Given the description of an element on the screen output the (x, y) to click on. 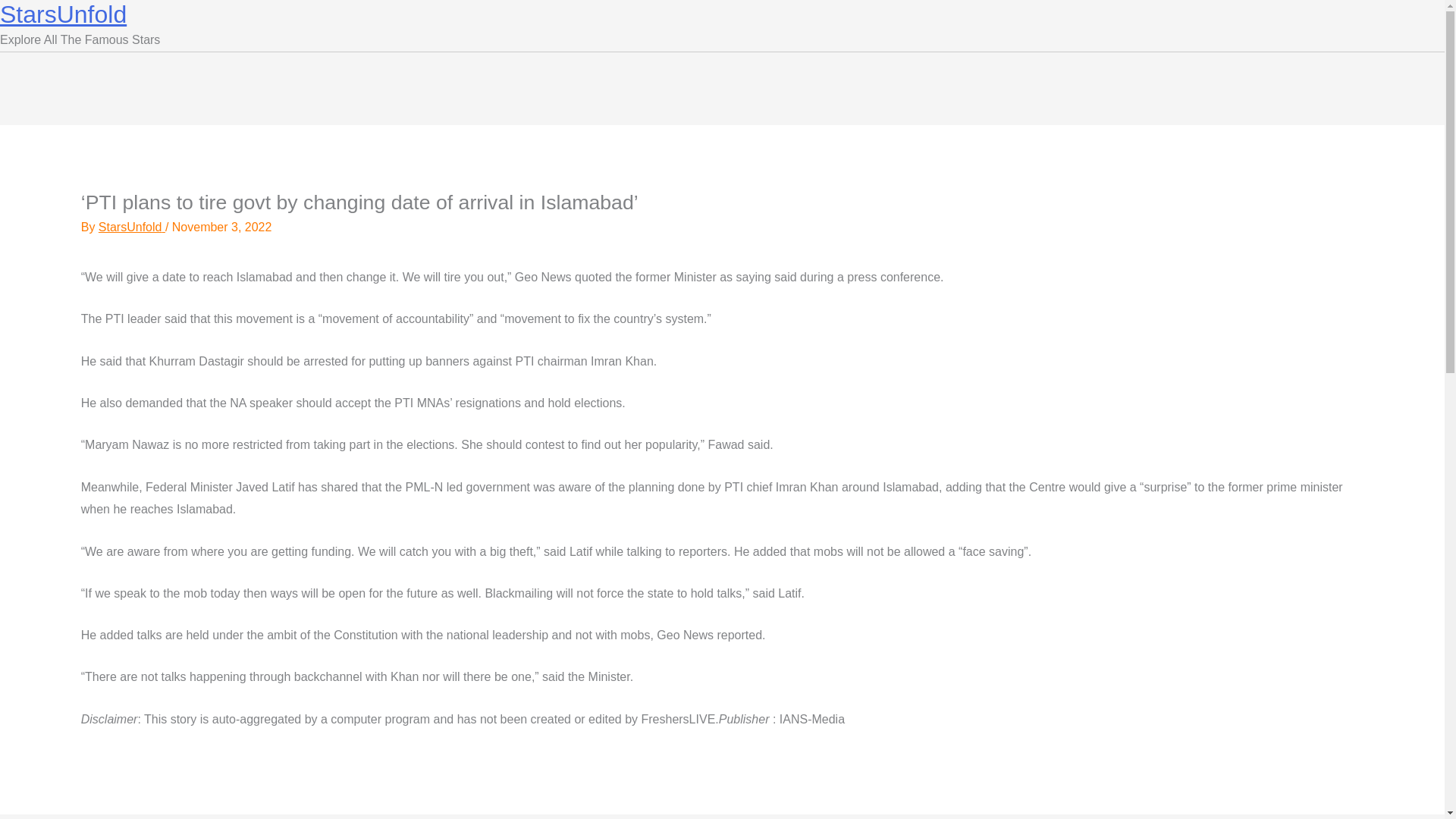
View all posts by StarsUnfold (132, 226)
StarsUnfold (132, 226)
StarsUnfold (63, 13)
